Given the description of an element on the screen output the (x, y) to click on. 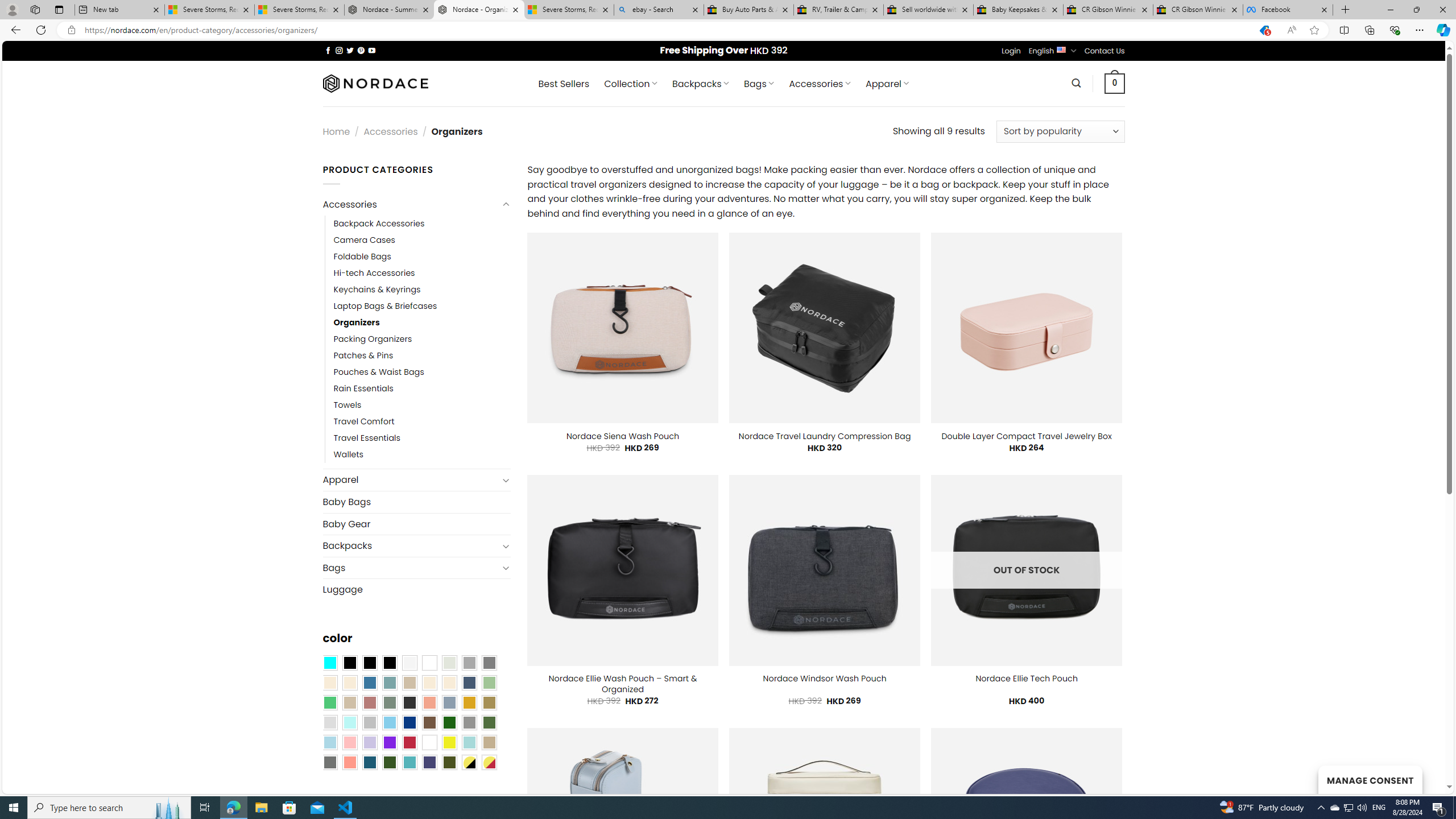
Pearly White (408, 662)
Backpack Accessories (422, 222)
Towels (347, 405)
Organizers (422, 321)
Dark Gray (468, 662)
Yellow-Red (488, 762)
Luggage (416, 589)
Forest (389, 762)
New tab (118, 9)
Keychains & Keyrings (376, 289)
Blue Sage (389, 681)
Caramel (429, 681)
